Given the description of an element on the screen output the (x, y) to click on. 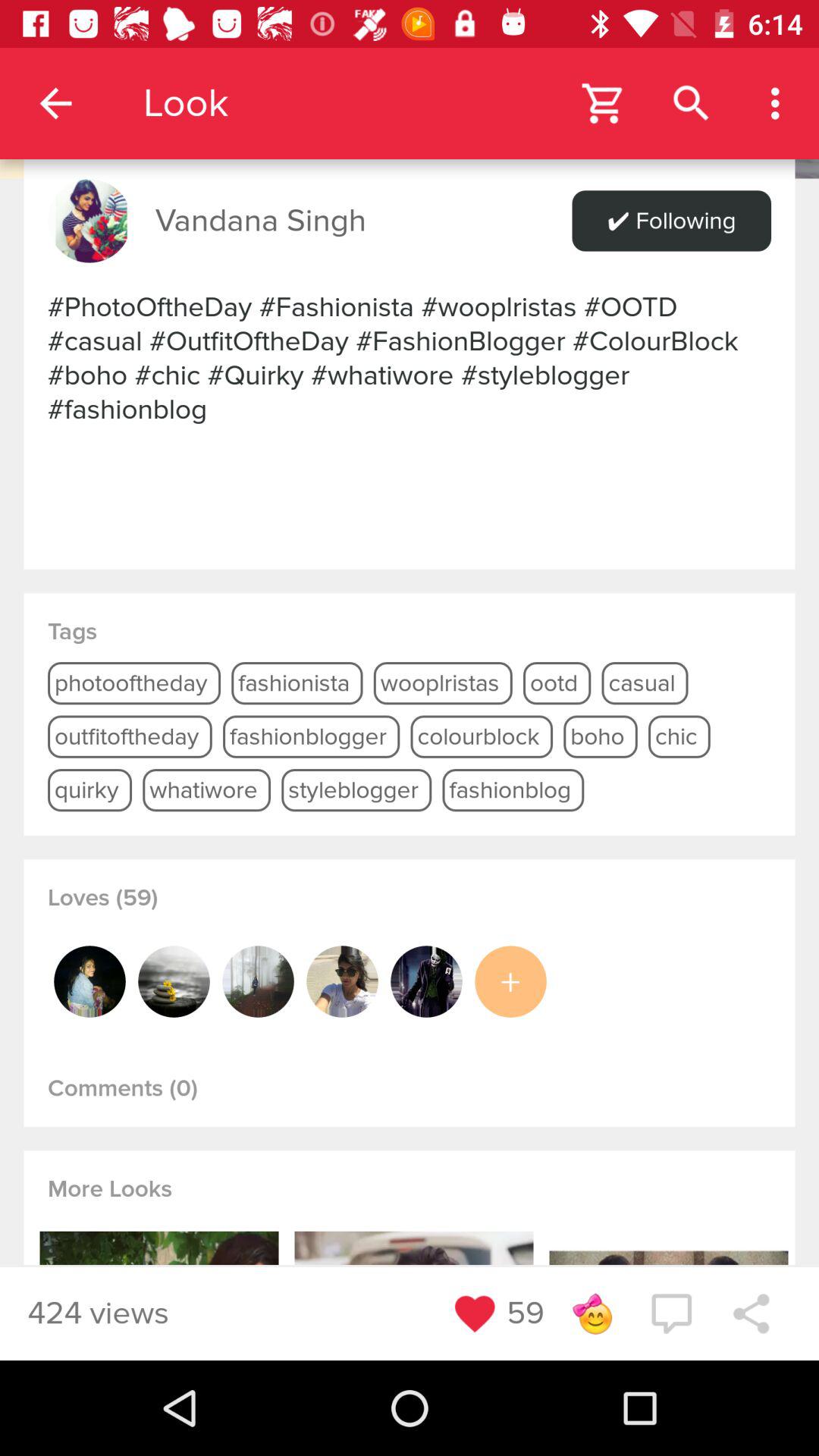
open the shopping cart (603, 103)
